Given the description of an element on the screen output the (x, y) to click on. 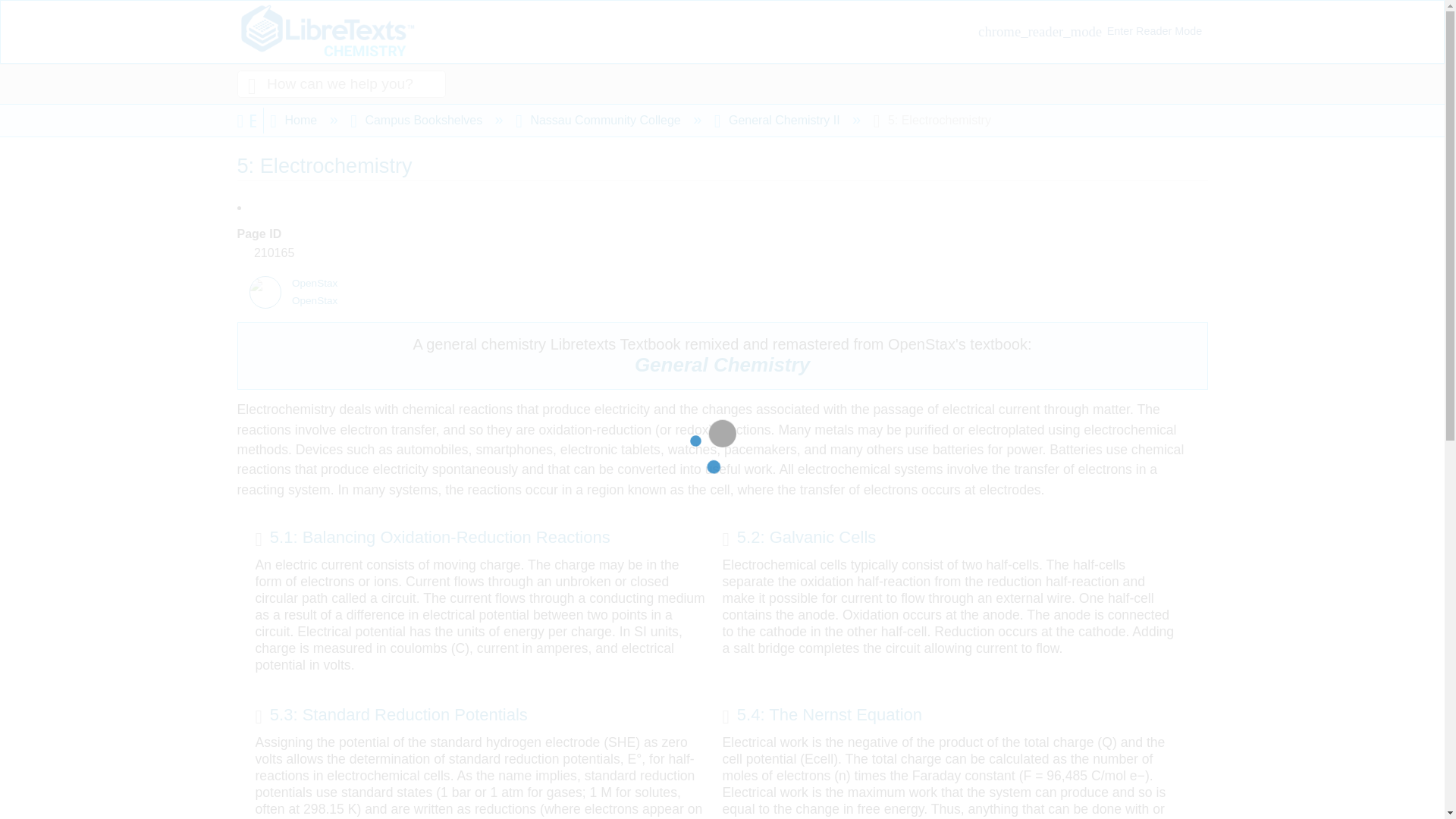
OpenStax (256, 285)
5.1: Balancing Oxidation-Reduction Reactions (432, 539)
5.2: Galvanic Cells (799, 539)
5.4: The Nernst Equation (821, 716)
5.3: Standard Reduction Potentials (390, 716)
